Given the description of an element on the screen output the (x, y) to click on. 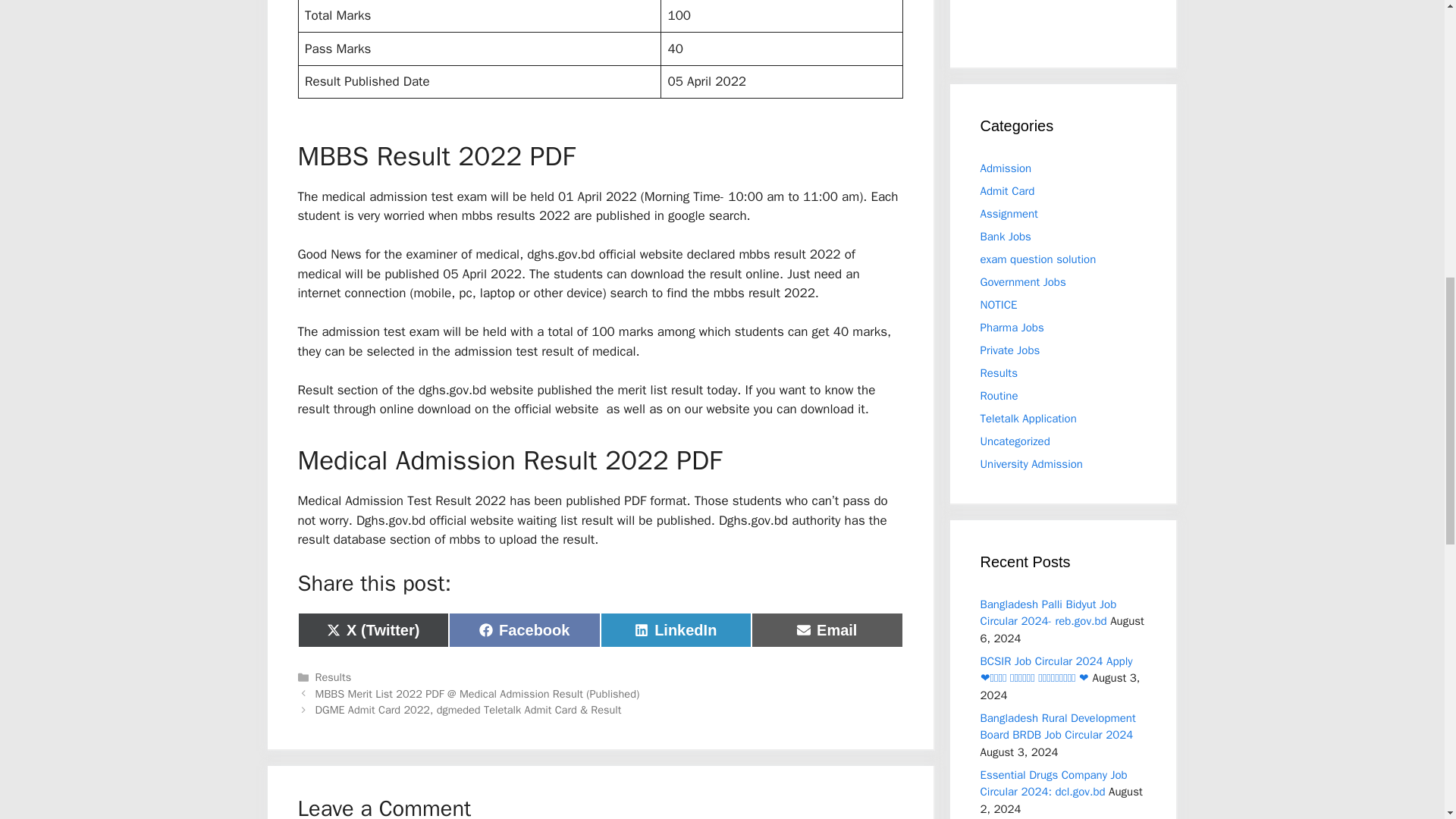
Results (675, 629)
Pharma Jobs (333, 676)
exam question solution (1011, 327)
Government Jobs (1037, 259)
Bank Jobs (1022, 282)
Admission (1004, 236)
Admit Card (1004, 168)
NOTICE (1006, 191)
